Given the description of an element on the screen output the (x, y) to click on. 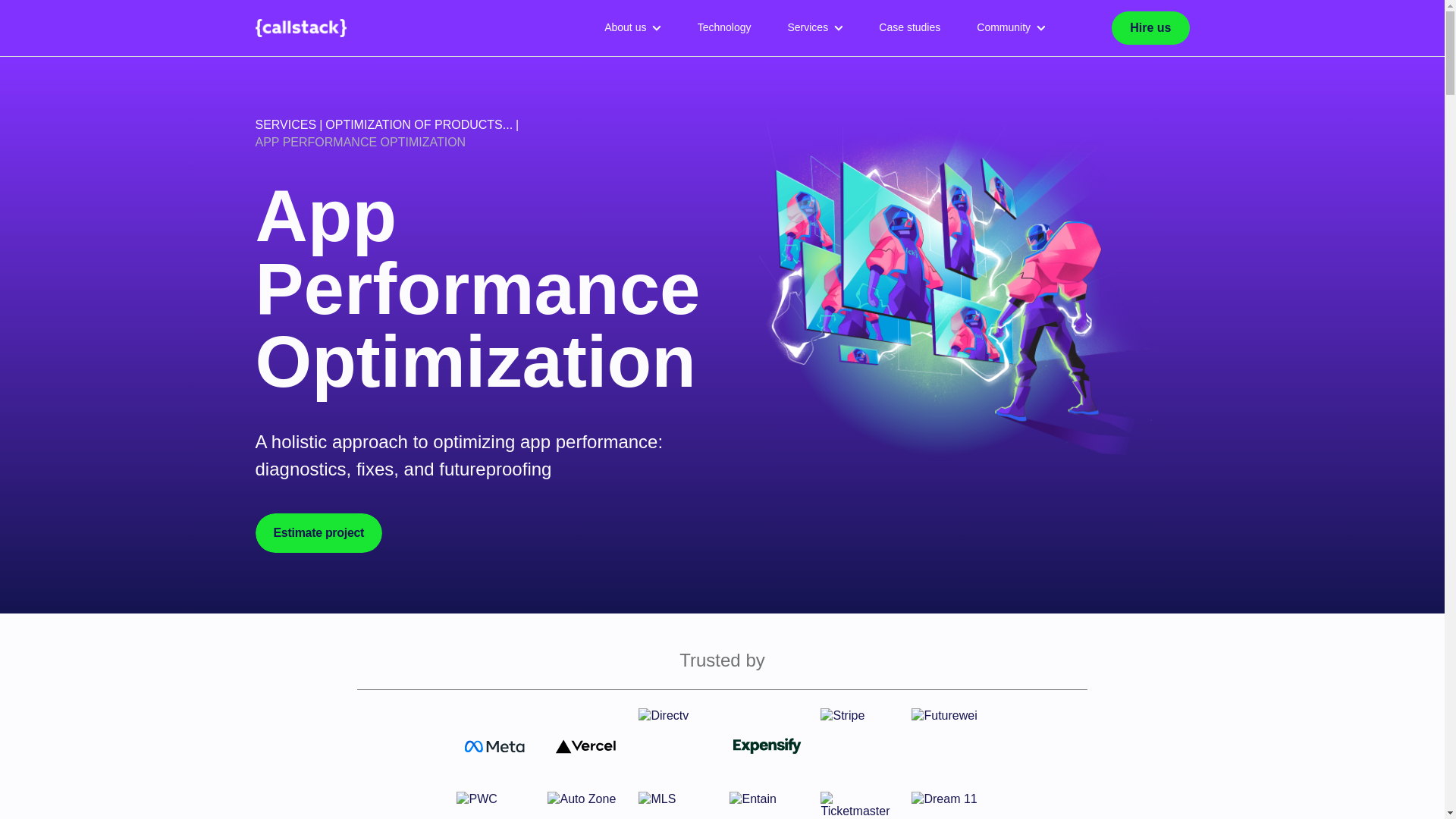
Technology (724, 28)
